Given the description of an element on the screen output the (x, y) to click on. 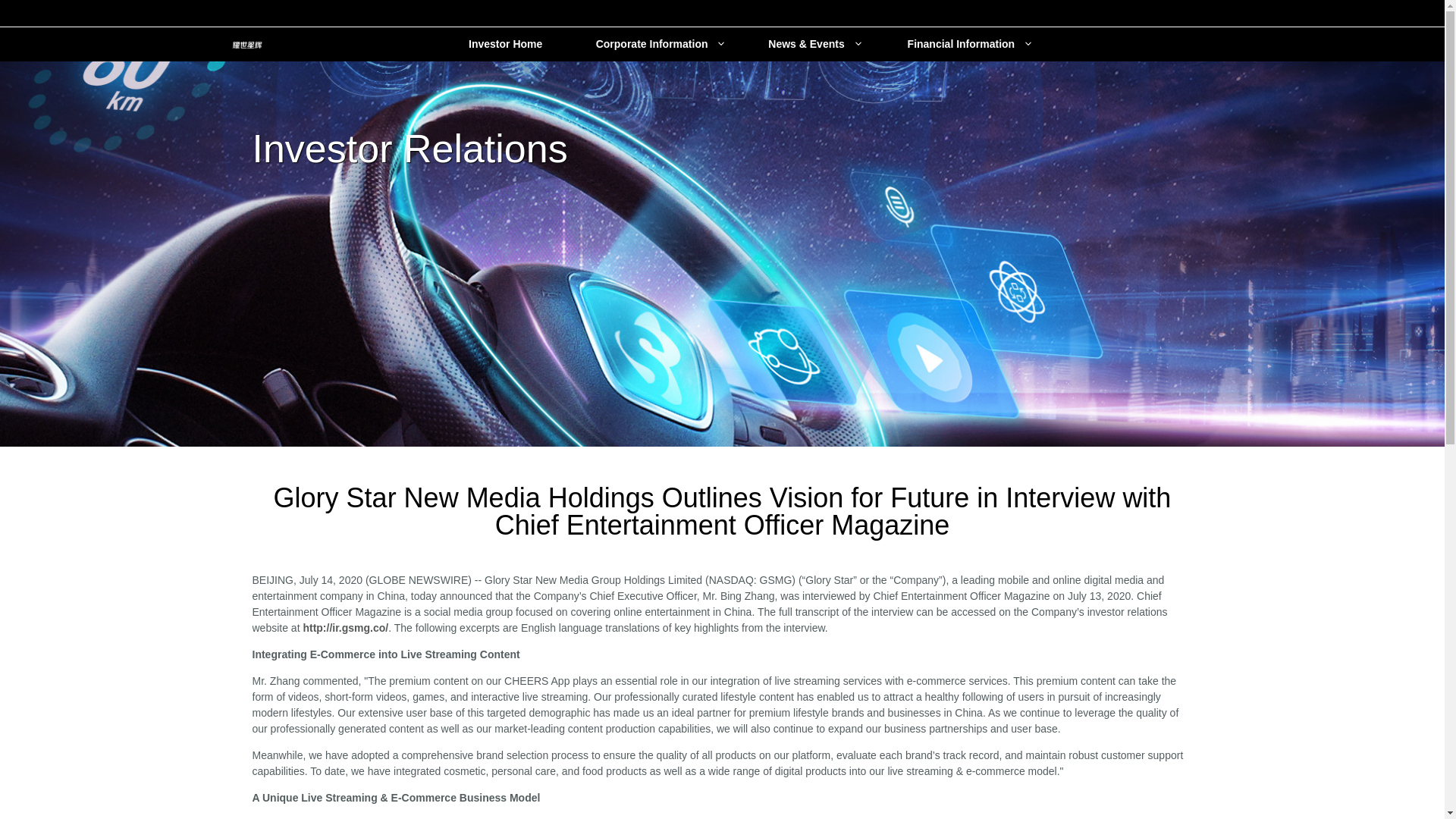
Investor Home (504, 43)
